Given the description of an element on the screen output the (x, y) to click on. 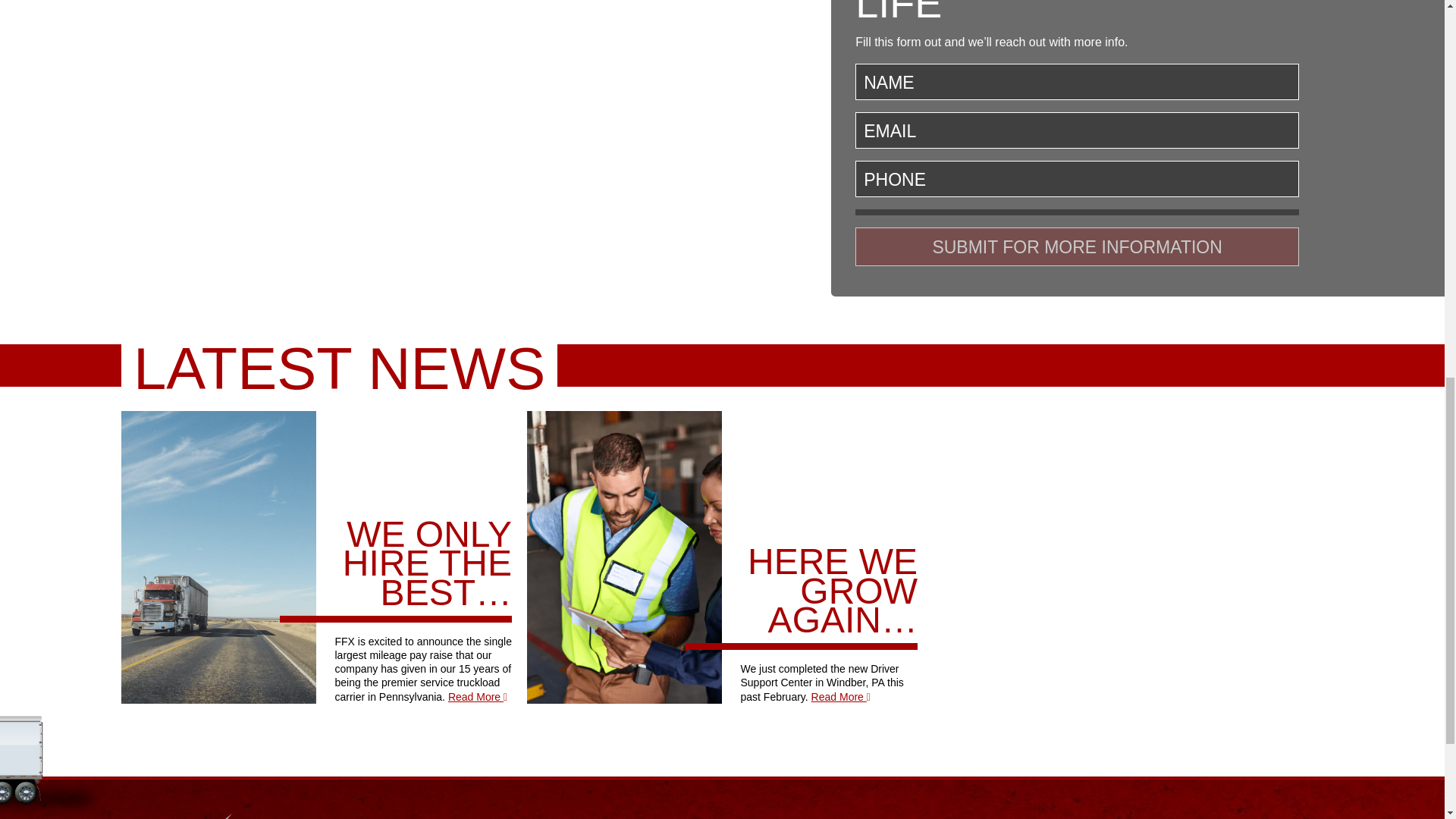
SUBMIT FOR MORE INFORMATION (1077, 246)
Read More (477, 696)
Read More (840, 696)
